Given the description of an element on the screen output the (x, y) to click on. 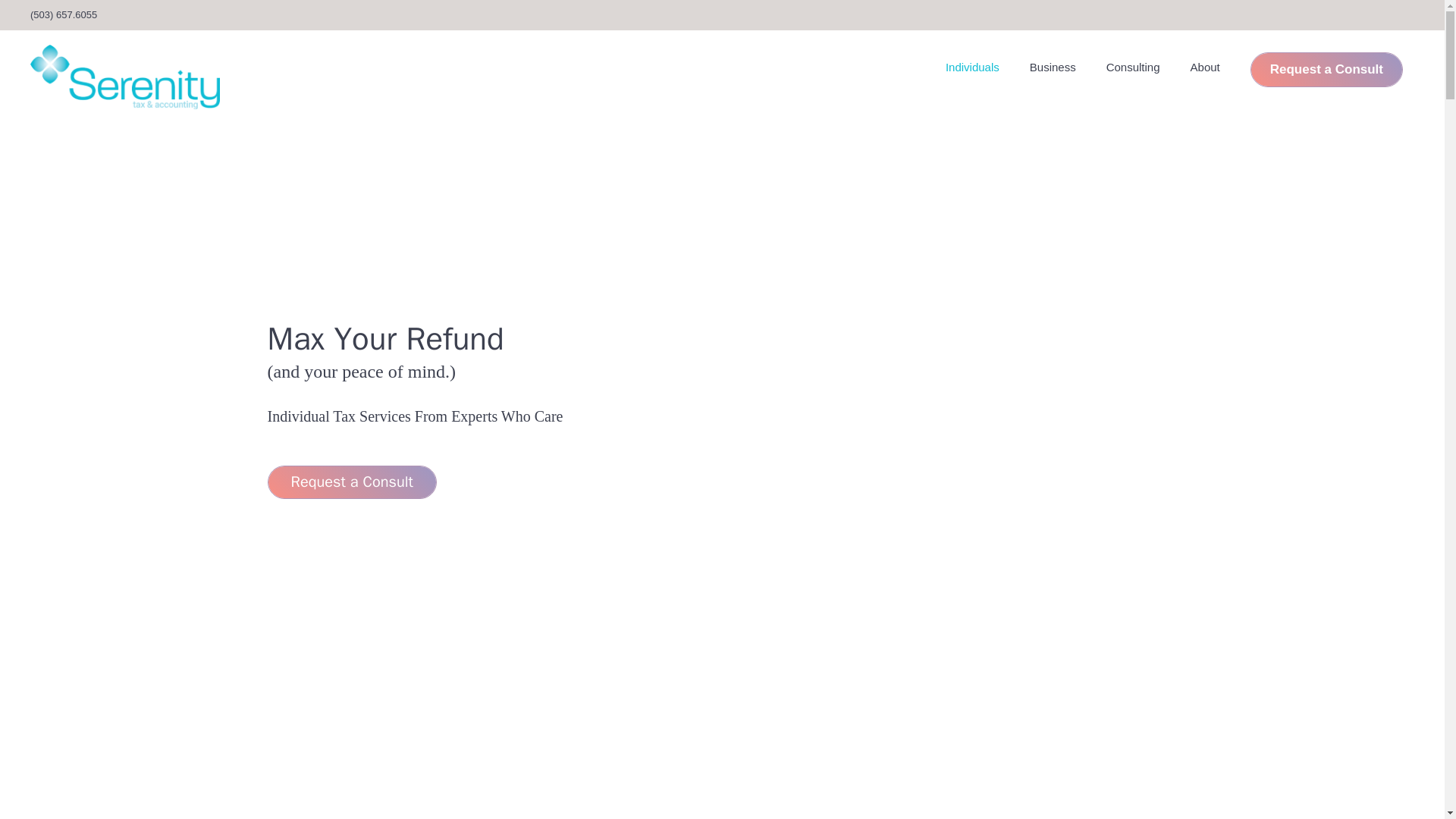
Request a Consult (350, 482)
Request a Consult (1326, 69)
Individuals (972, 67)
About (1204, 67)
Consulting (1132, 67)
Business (1052, 67)
